Given the description of an element on the screen output the (x, y) to click on. 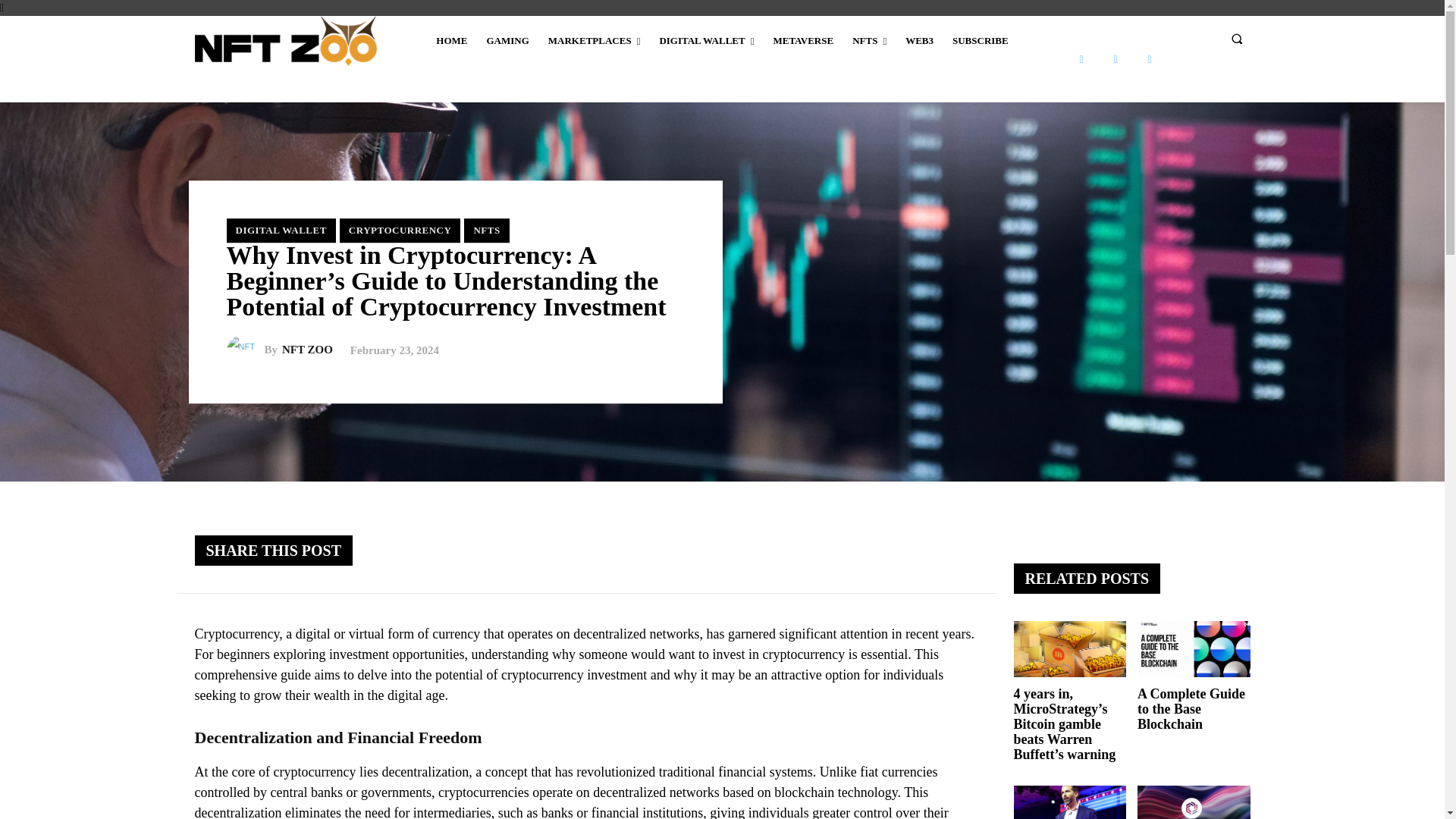
MARKETPLACES (593, 40)
Twitter (1148, 58)
Instagram (1115, 58)
NFT ZOO (244, 349)
Facebook (1080, 58)
HOME (451, 40)
GAMING (507, 40)
